Given the description of an element on the screen output the (x, y) to click on. 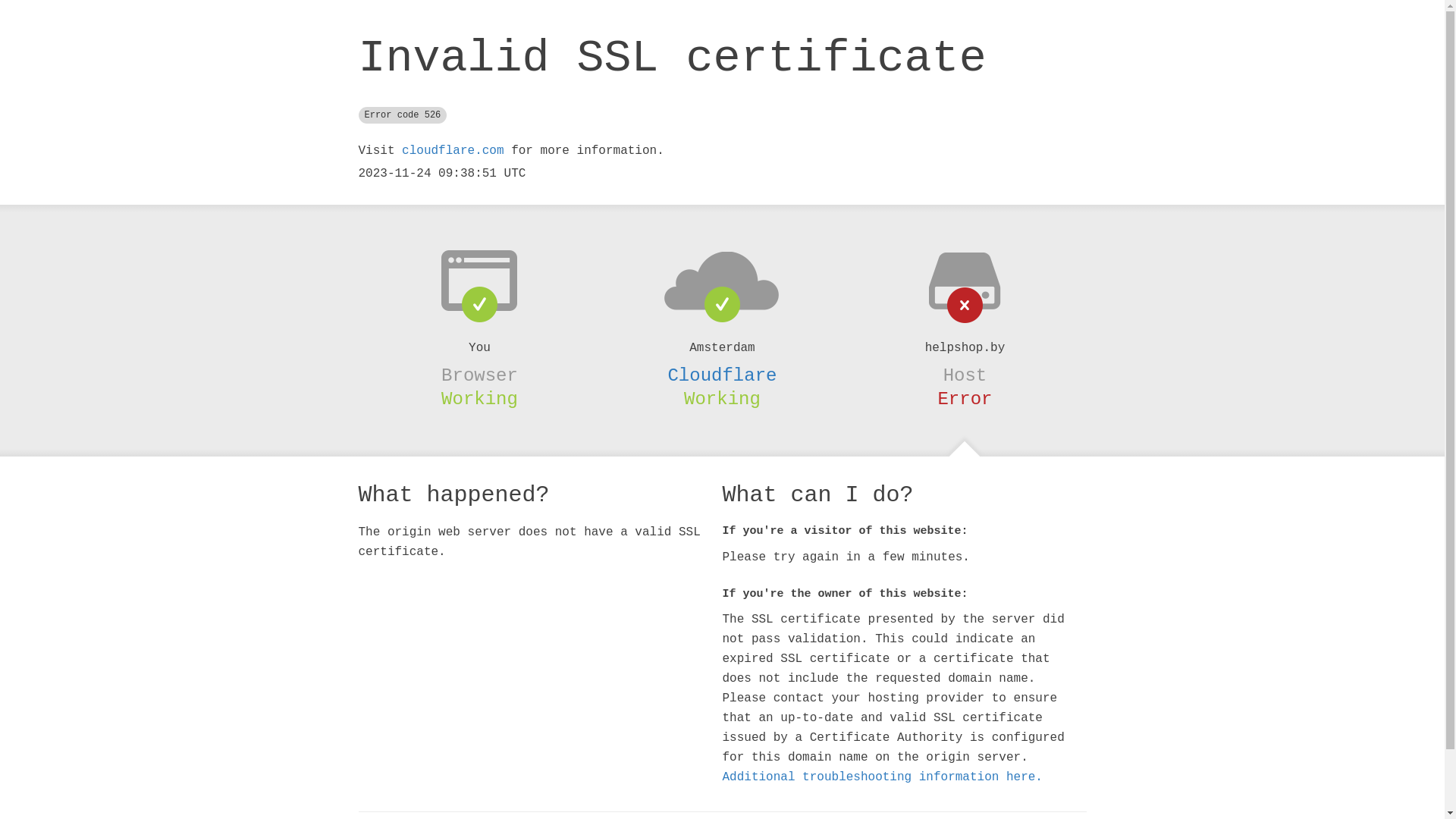
Additional troubleshooting information here. Element type: text (881, 777)
cloudflare.com Element type: text (452, 150)
Cloudflare Element type: text (721, 375)
